Given the description of an element on the screen output the (x, y) to click on. 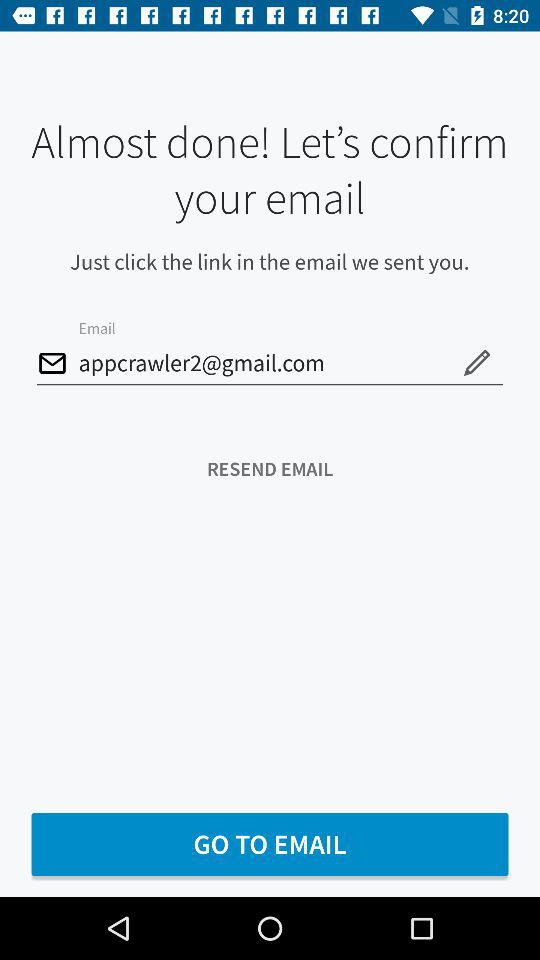
select the icon above the go to email item (269, 468)
